Given the description of an element on the screen output the (x, y) to click on. 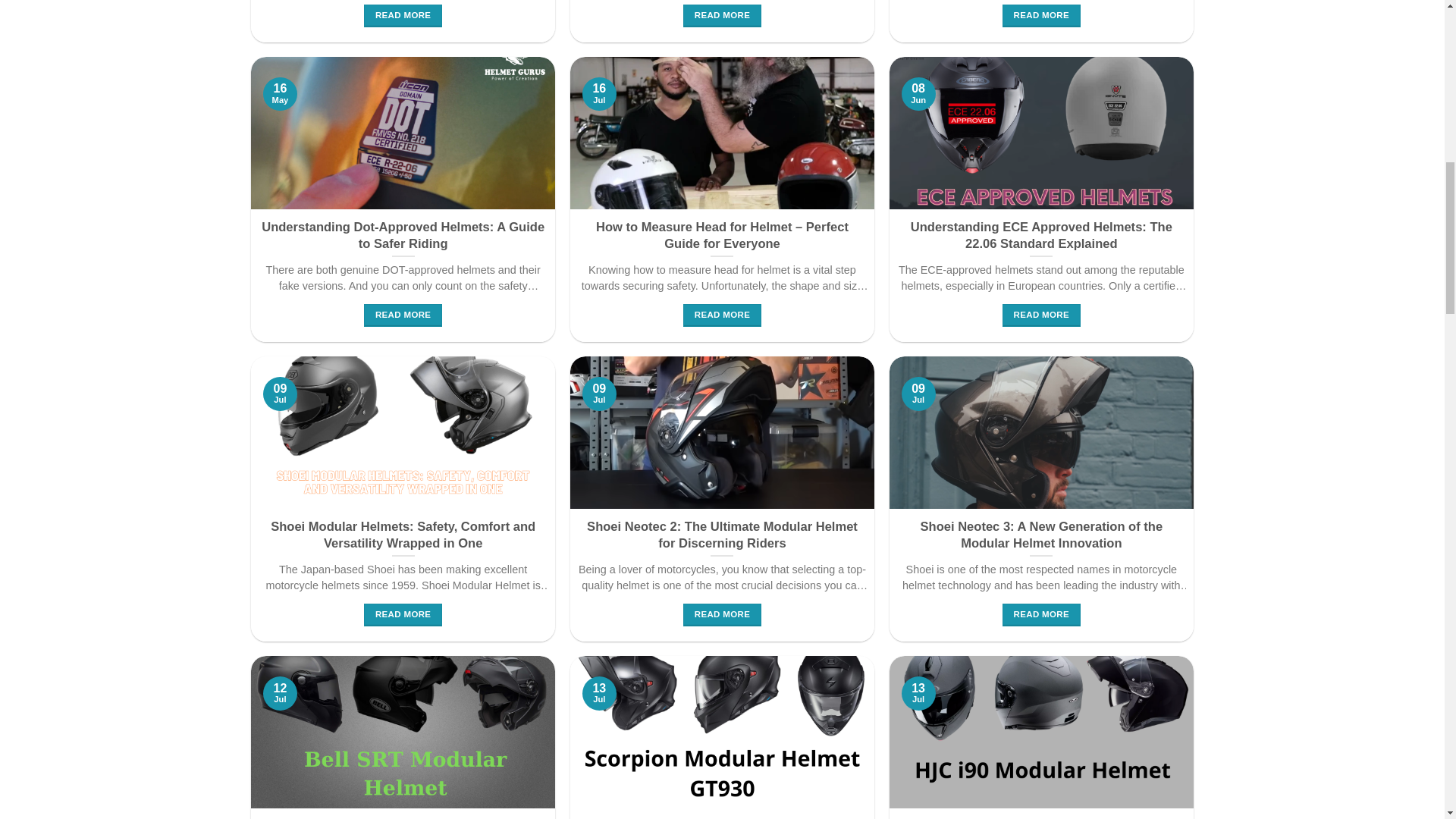
READ MORE (1041, 15)
READ MORE (1041, 314)
READ MORE (403, 614)
READ MORE (721, 15)
READ MORE (1041, 614)
READ MORE (403, 314)
